Given the description of an element on the screen output the (x, y) to click on. 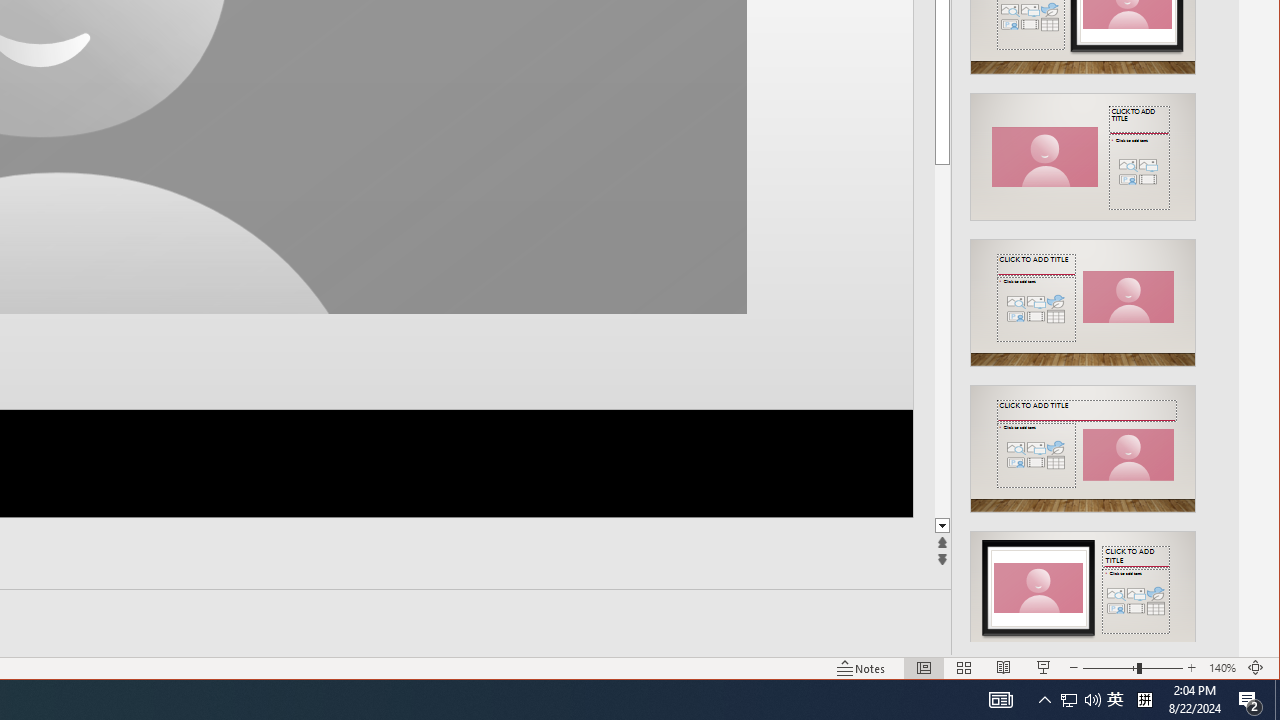
Page down (942, 340)
Notification Chevron (1069, 699)
Show desktop (1044, 699)
Tray Input Indicator - Chinese (Simplified, China) (1277, 699)
